Given the description of an element on the screen output the (x, y) to click on. 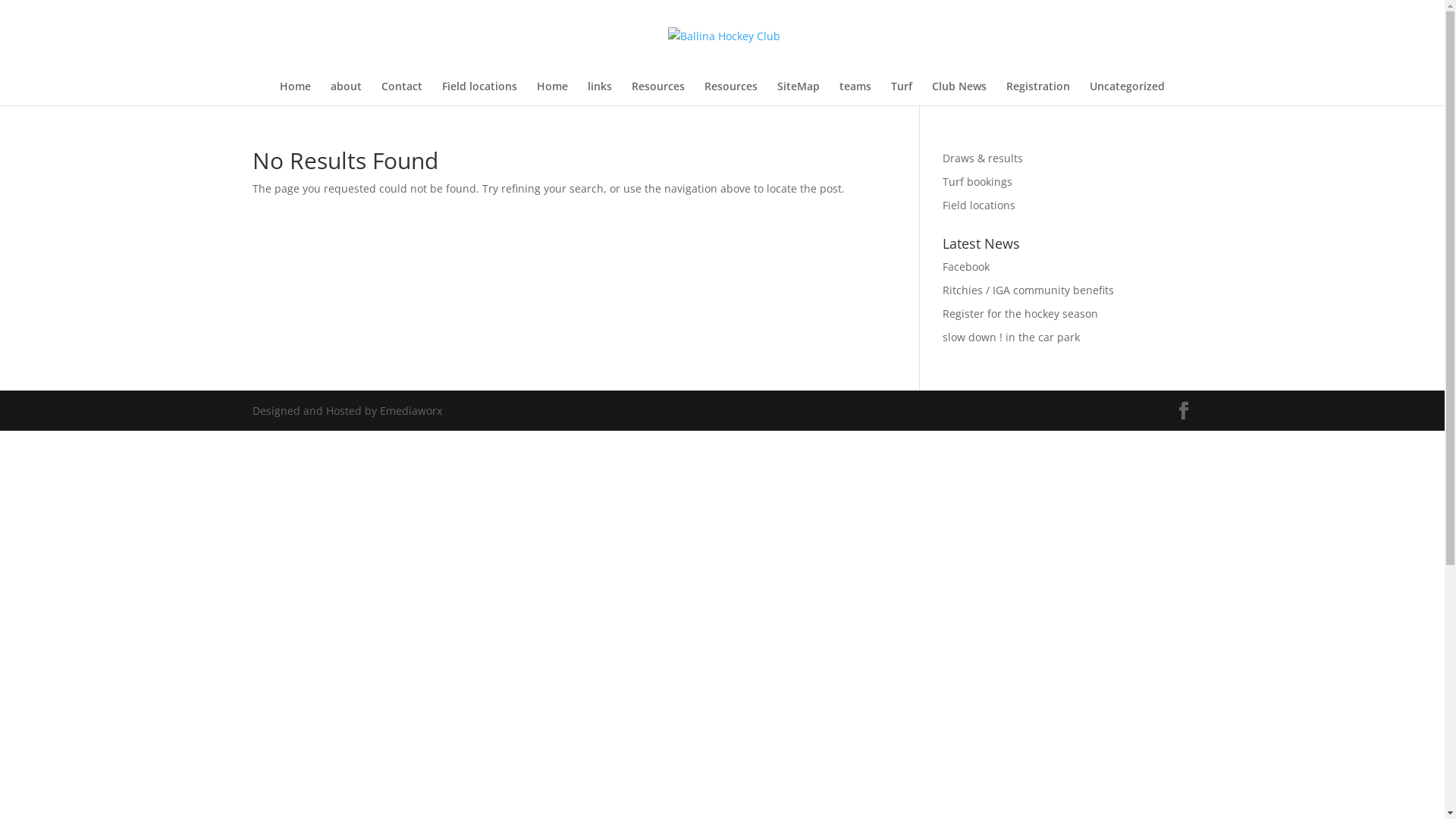
about Element type: text (345, 93)
Turf bookings Element type: text (977, 181)
Field locations Element type: text (978, 204)
slow down ! in the car park Element type: text (1010, 336)
Ritchies / IGA community benefits Element type: text (1027, 289)
Home Element type: text (294, 93)
Resources Element type: text (730, 93)
Resources Element type: text (657, 93)
Contact Element type: text (401, 93)
teams Element type: text (855, 93)
Turf Element type: text (901, 93)
Facebook Element type: text (965, 266)
Registration Element type: text (1038, 93)
Club News Element type: text (958, 93)
SiteMap Element type: text (798, 93)
Register for the hockey season Element type: text (1020, 313)
Draws & results Element type: text (982, 157)
links Element type: text (599, 93)
Uncategorized Element type: text (1126, 93)
Home Element type: text (551, 93)
Field locations Element type: text (479, 93)
